Given the description of an element on the screen output the (x, y) to click on. 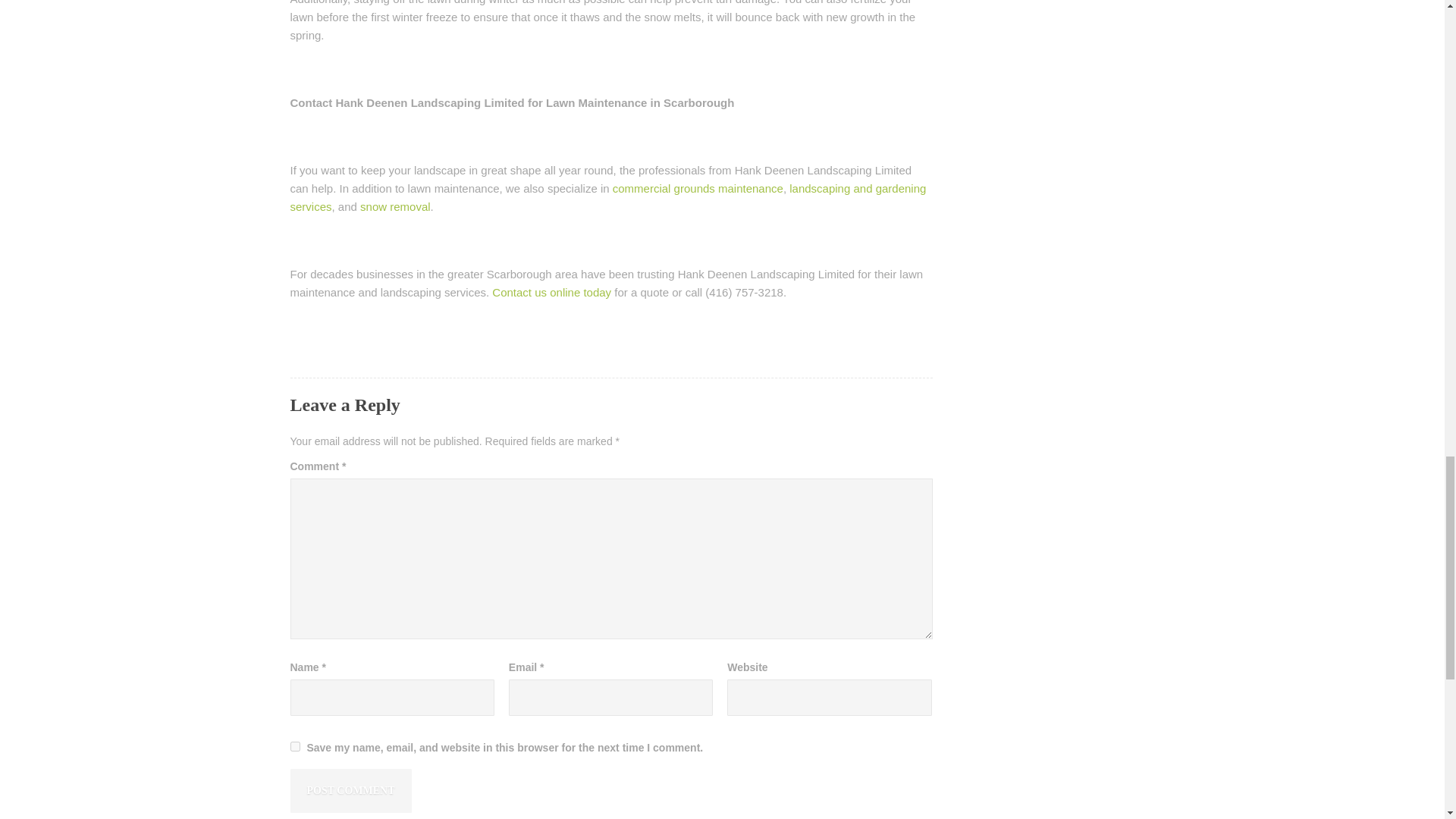
Post Comment (349, 791)
yes (294, 746)
commercial grounds maintenance (697, 187)
